Given the description of an element on the screen output the (x, y) to click on. 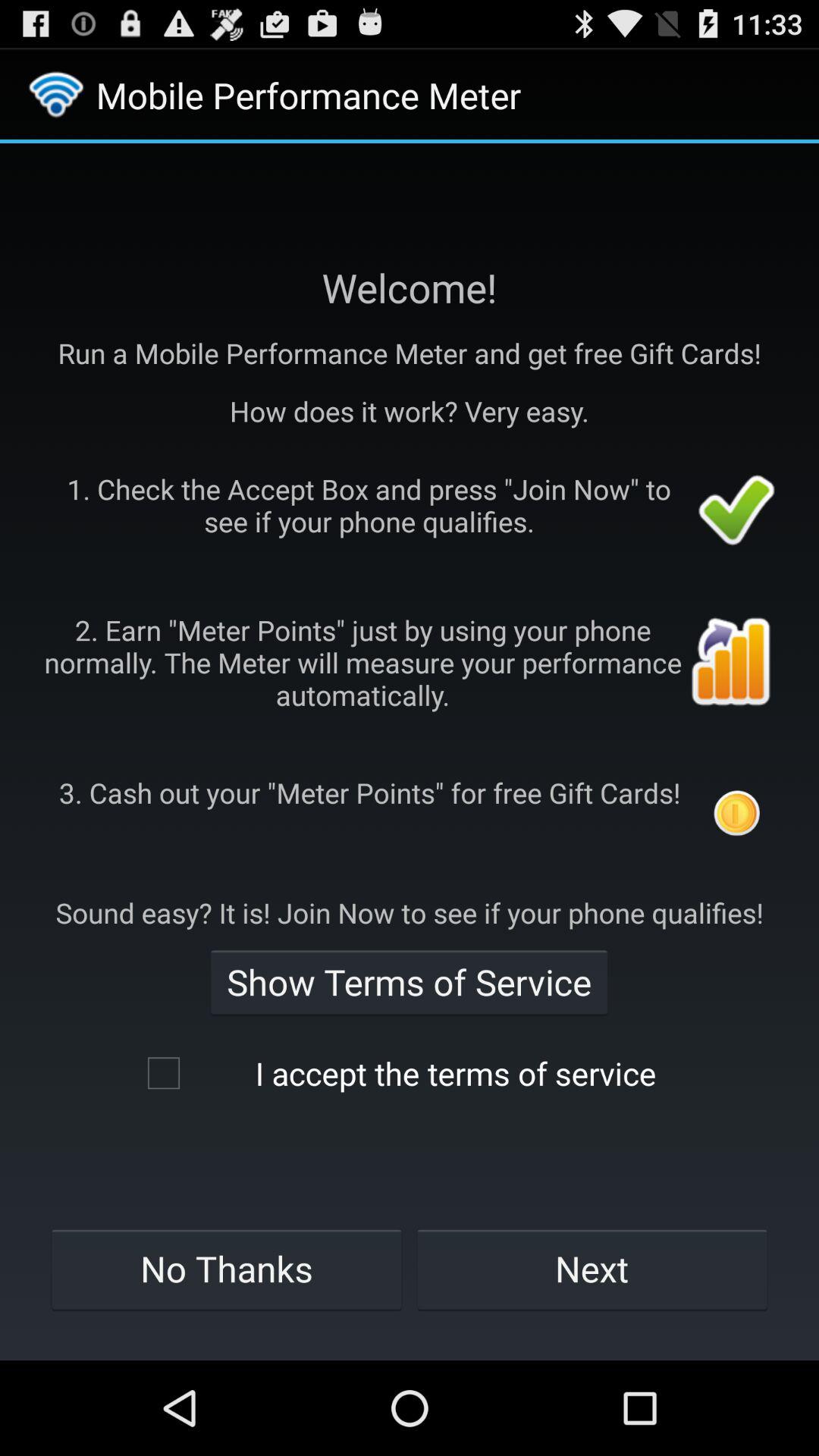
jump to no thanks (226, 1268)
